Given the description of an element on the screen output the (x, y) to click on. 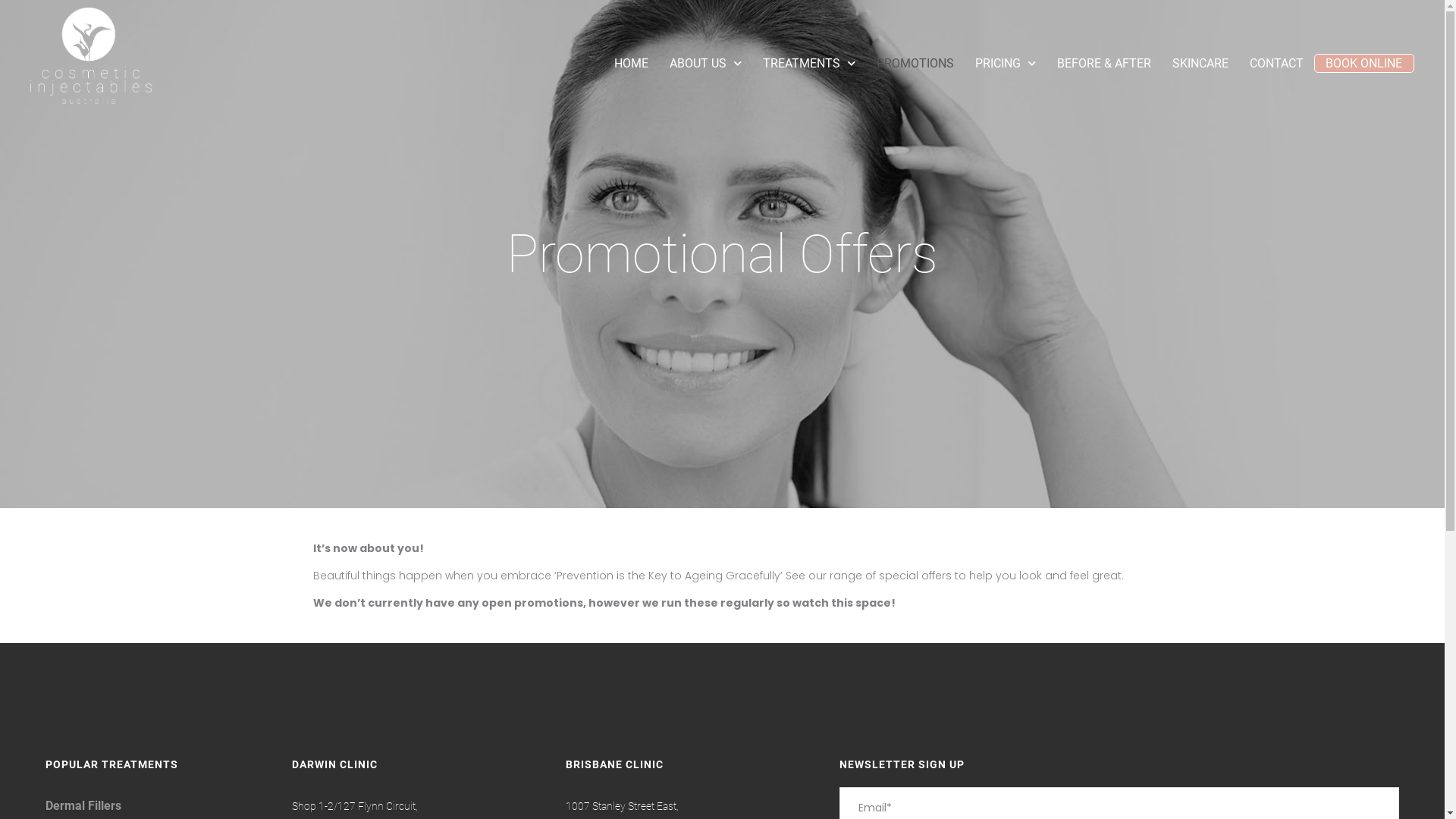
HOME Element type: text (631, 62)
SKINCARE Element type: text (1200, 62)
BOOK ONLINE Element type: text (1363, 63)
ABOUT US Element type: text (705, 62)
PRICING Element type: text (1005, 62)
CONTACT Element type: text (1276, 62)
PROMOTIONS Element type: text (914, 62)
Dermal Fillers Element type: text (83, 805)
TREATMENTS Element type: text (808, 62)
BEFORE & AFTER Element type: text (1104, 62)
